Given the description of an element on the screen output the (x, y) to click on. 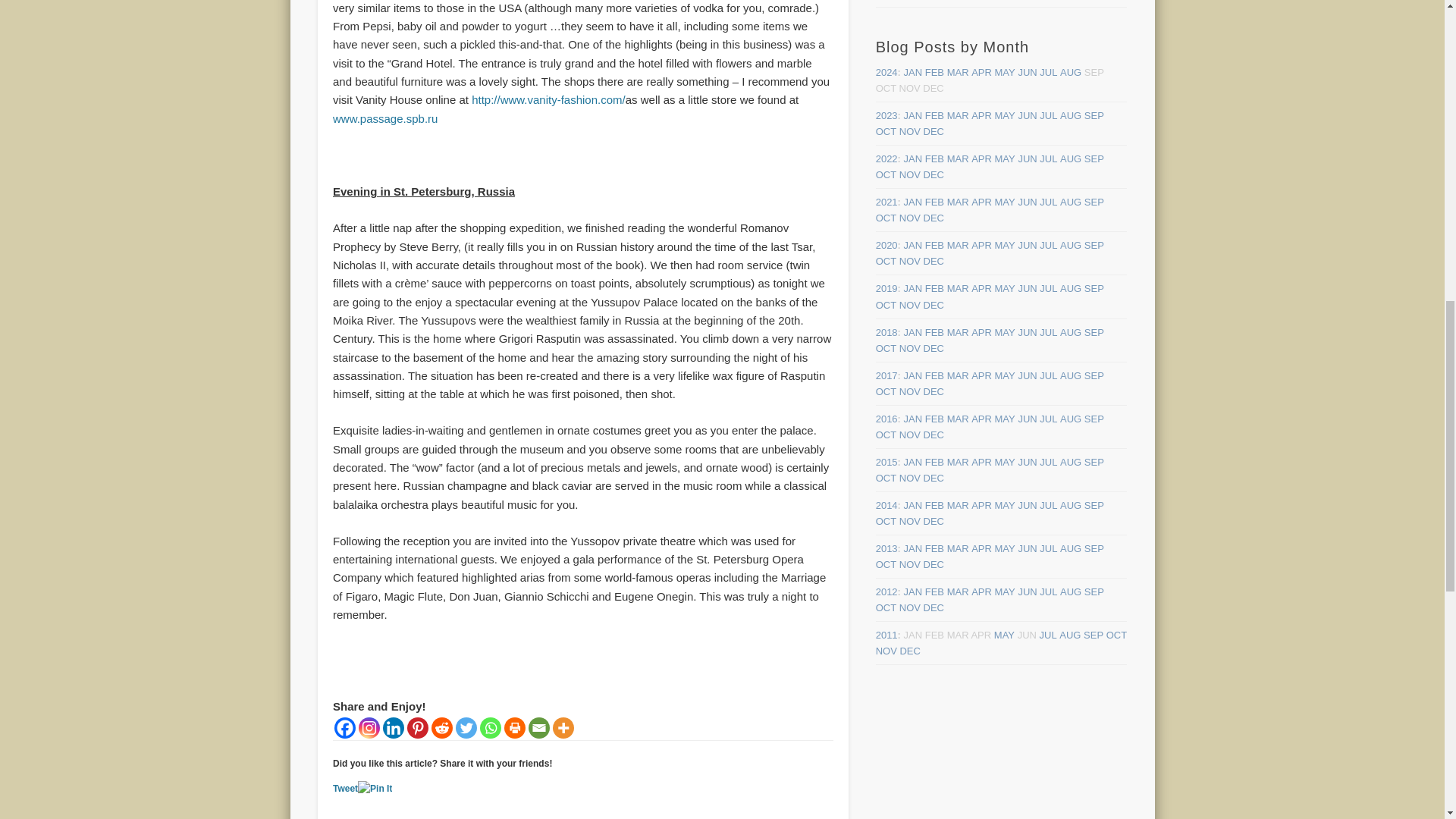
Facebook (344, 727)
Instagram (369, 727)
www.passage.spb.ru (385, 118)
Tweet (345, 787)
